Given the description of an element on the screen output the (x, y) to click on. 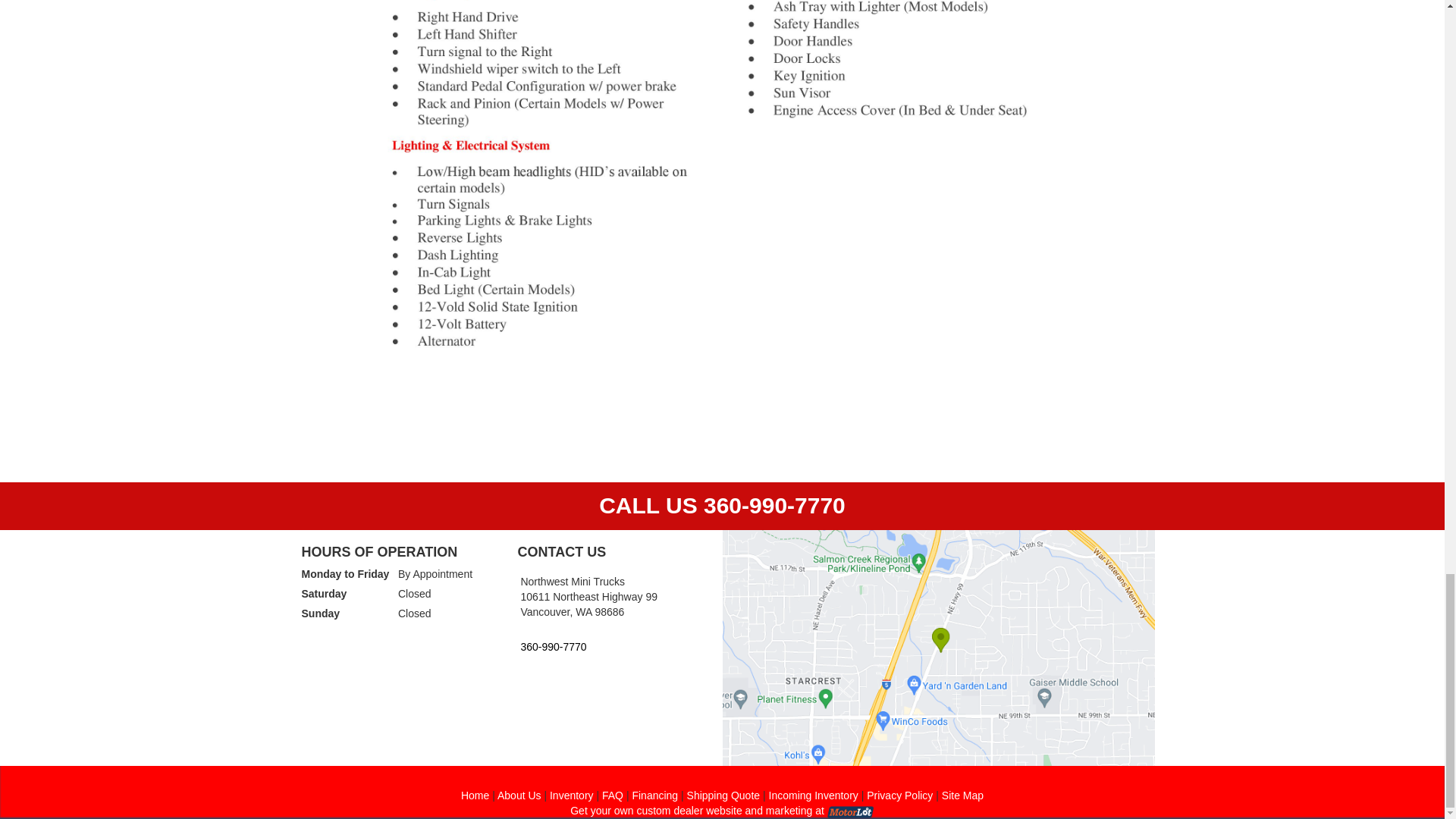
Privacy Policy (899, 795)
Site Map (963, 795)
CALL US 360-990-7770 (721, 505)
Incoming Inventory (813, 795)
Inventory (572, 795)
Home (475, 795)
Shipping Quote (723, 795)
360-990-7770 (613, 645)
FAQ (612, 795)
Financing (654, 795)
About Us (519, 795)
